Given the description of an element on the screen output the (x, y) to click on. 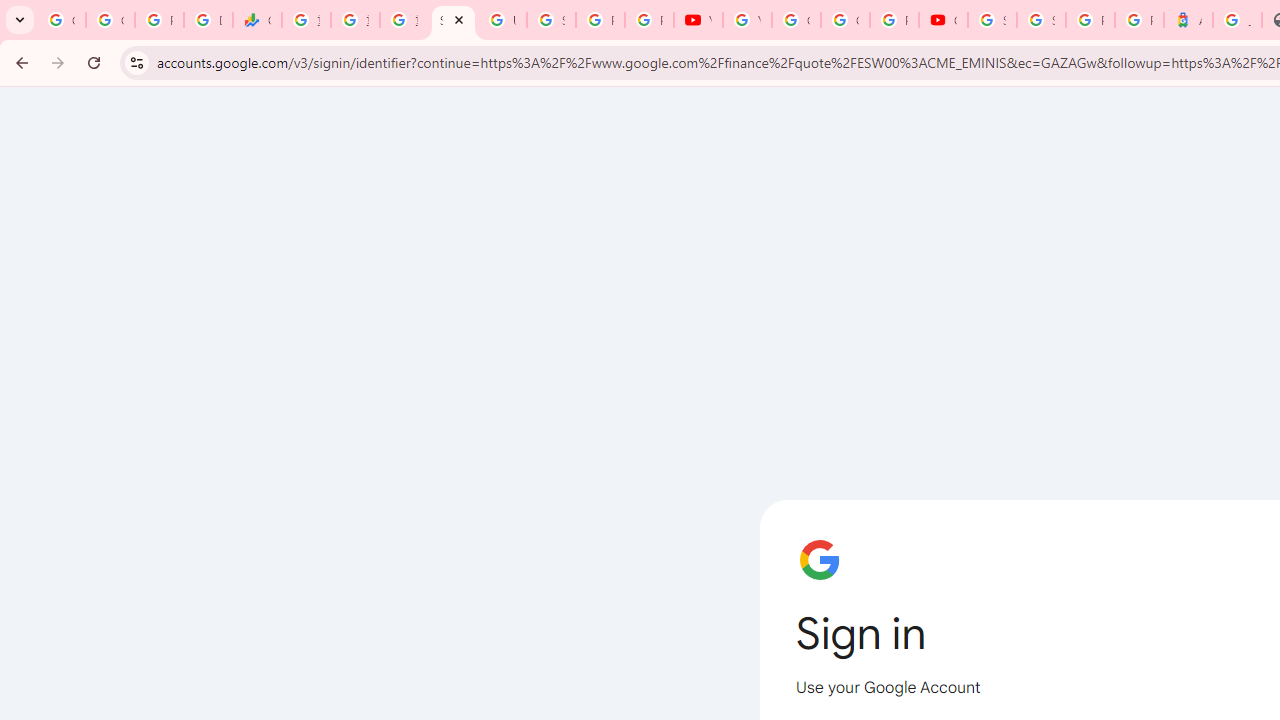
Content Creator Programs & Opportunities - YouTube Creators (943, 20)
Create your Google Account (845, 20)
